Given the description of an element on the screen output the (x, y) to click on. 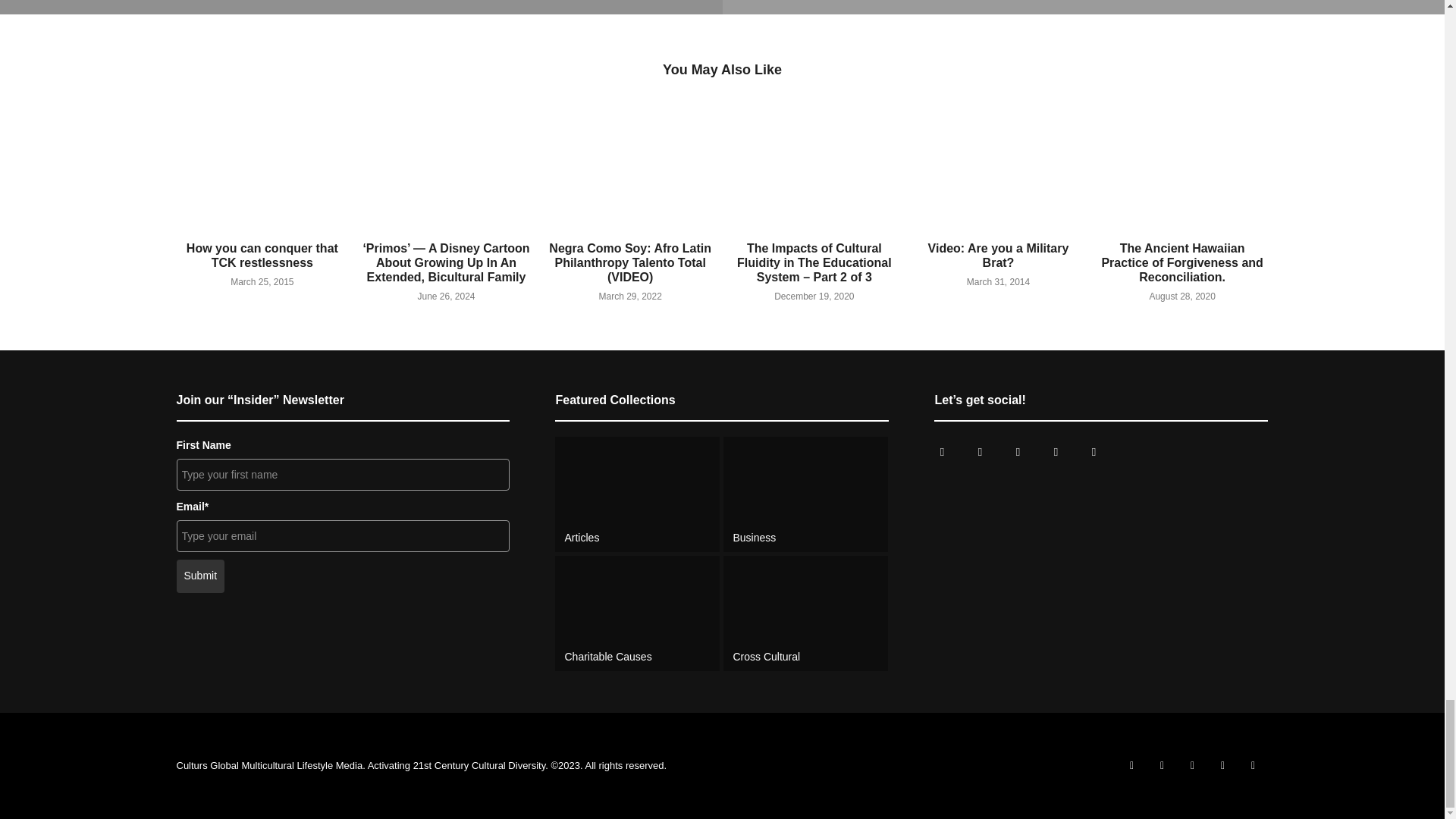
Cultursmag (978, 451)
Cultursmag (941, 451)
Culturs (1017, 451)
